Given the description of an element on the screen output the (x, y) to click on. 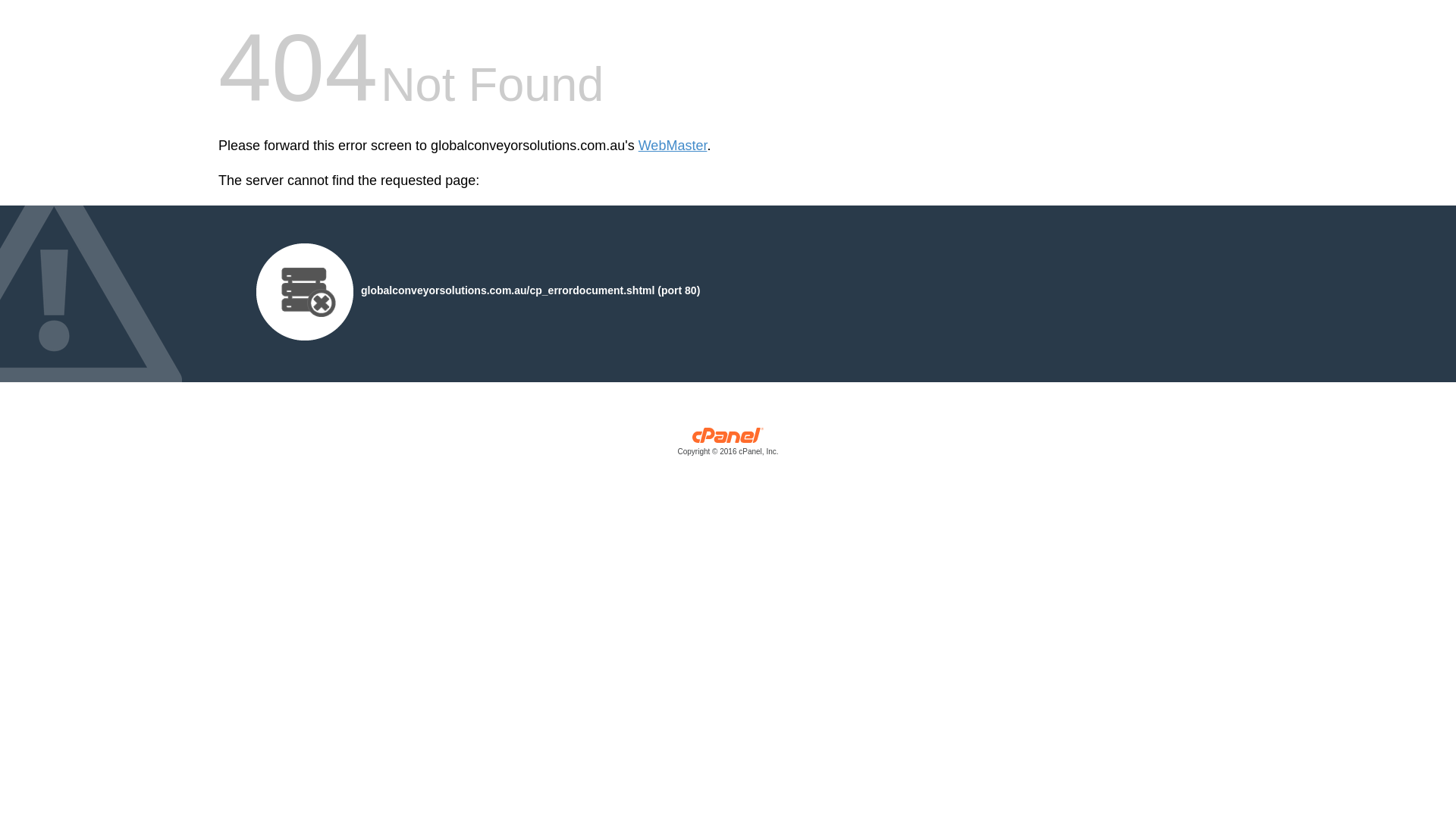
WebMaster Element type: text (672, 145)
